Given the description of an element on the screen output the (x, y) to click on. 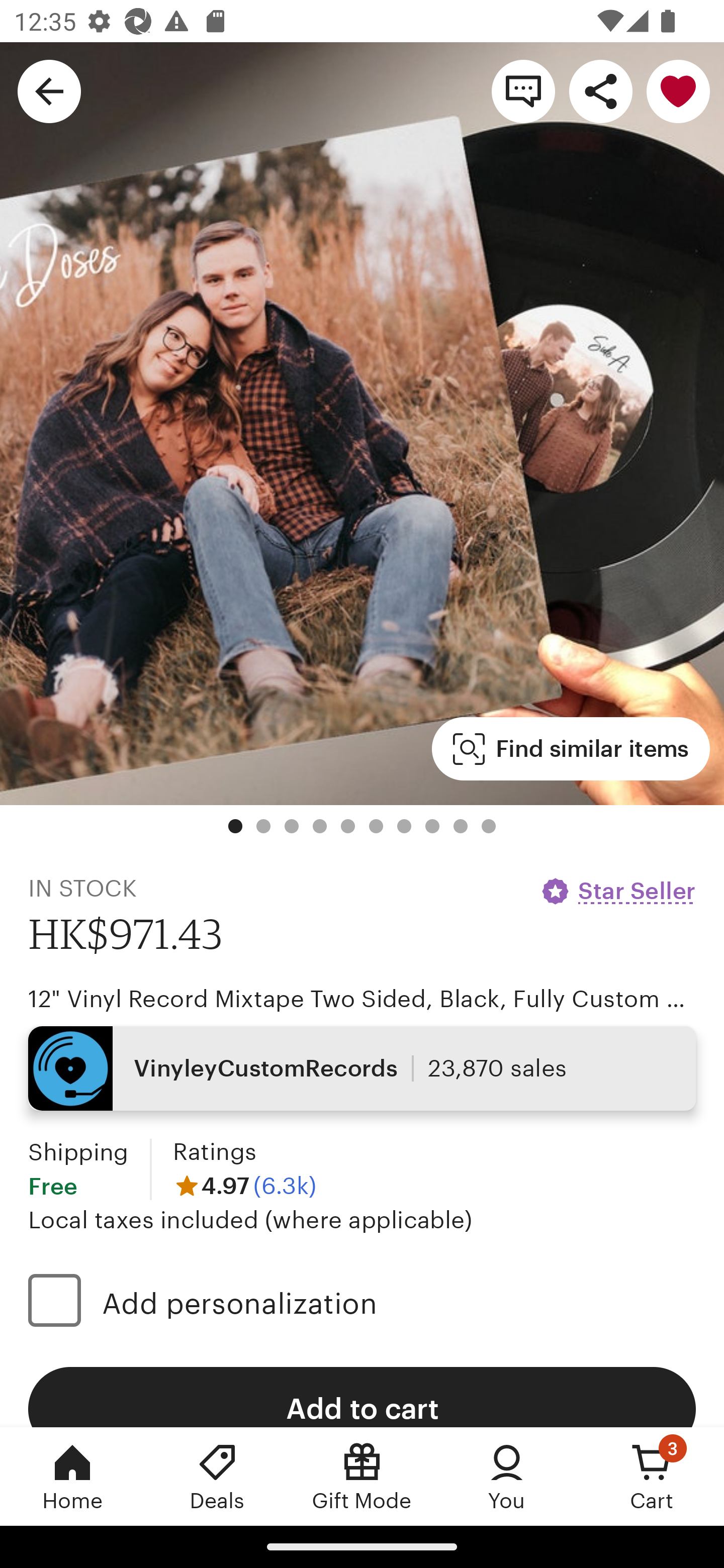
Navigate up (49, 90)
Contact shop (523, 90)
Share (600, 90)
Find similar items (571, 748)
Star Seller (617, 890)
VinyleyCustomRecords 23,870 sales (361, 1067)
Ratings (215, 1151)
4.97 (6.3k) (245, 1185)
Add personalization (optional) Add personalization (362, 1302)
Add to cart (361, 1396)
Deals (216, 1475)
Gift Mode (361, 1475)
You (506, 1475)
Cart, 3 new notifications Cart (651, 1475)
